Given the description of an element on the screen output the (x, y) to click on. 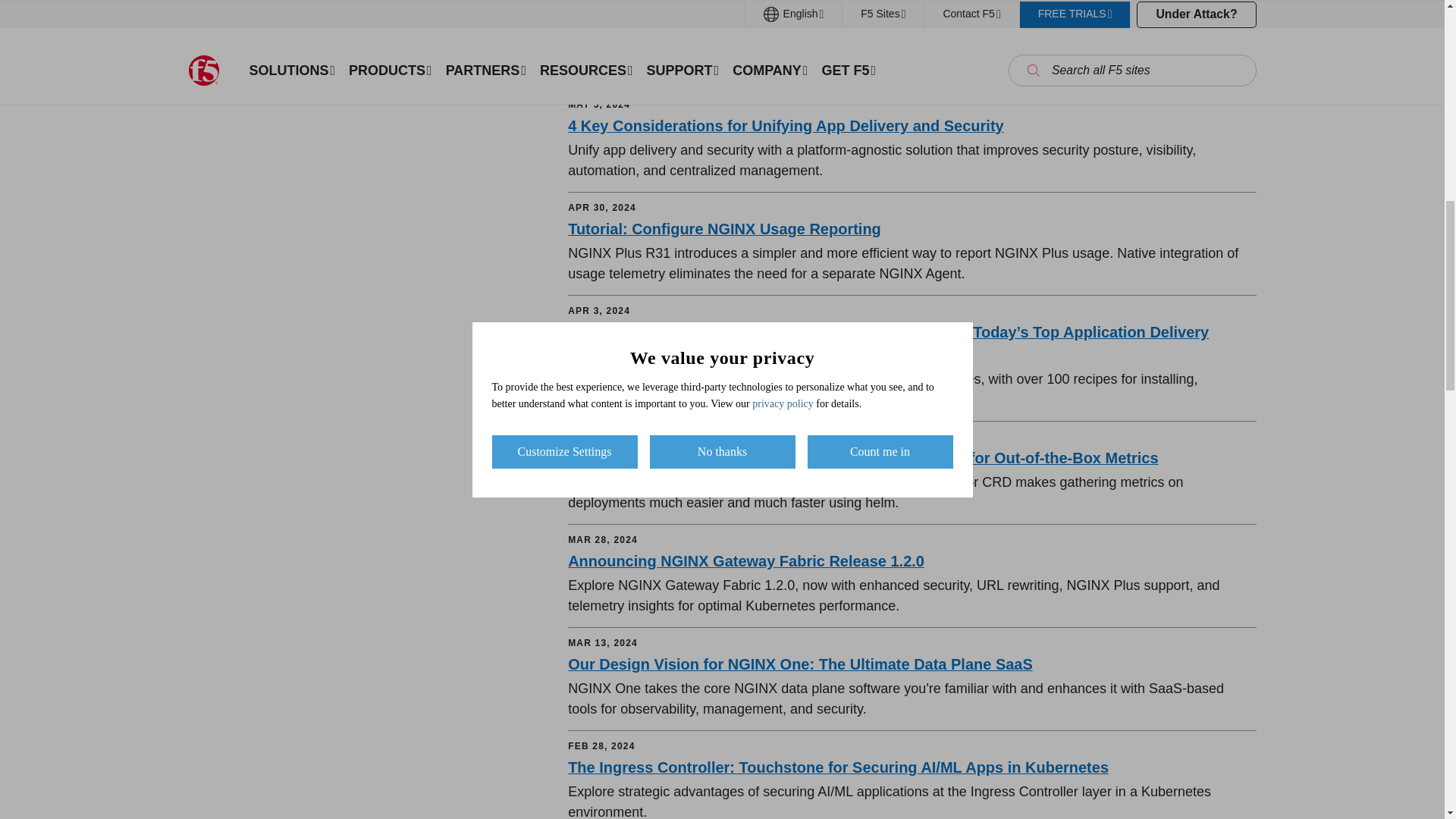
A New Home for the NGINX Blog on F5.com (723, 22)
4 Key Considerations for Unifying App Delivery and Security (785, 125)
Tutorial: Configure NGINX Usage Reporting (723, 228)
Announcing NGINX Gateway Fabric Release 1.2.0 (745, 560)
